Given the description of an element on the screen output the (x, y) to click on. 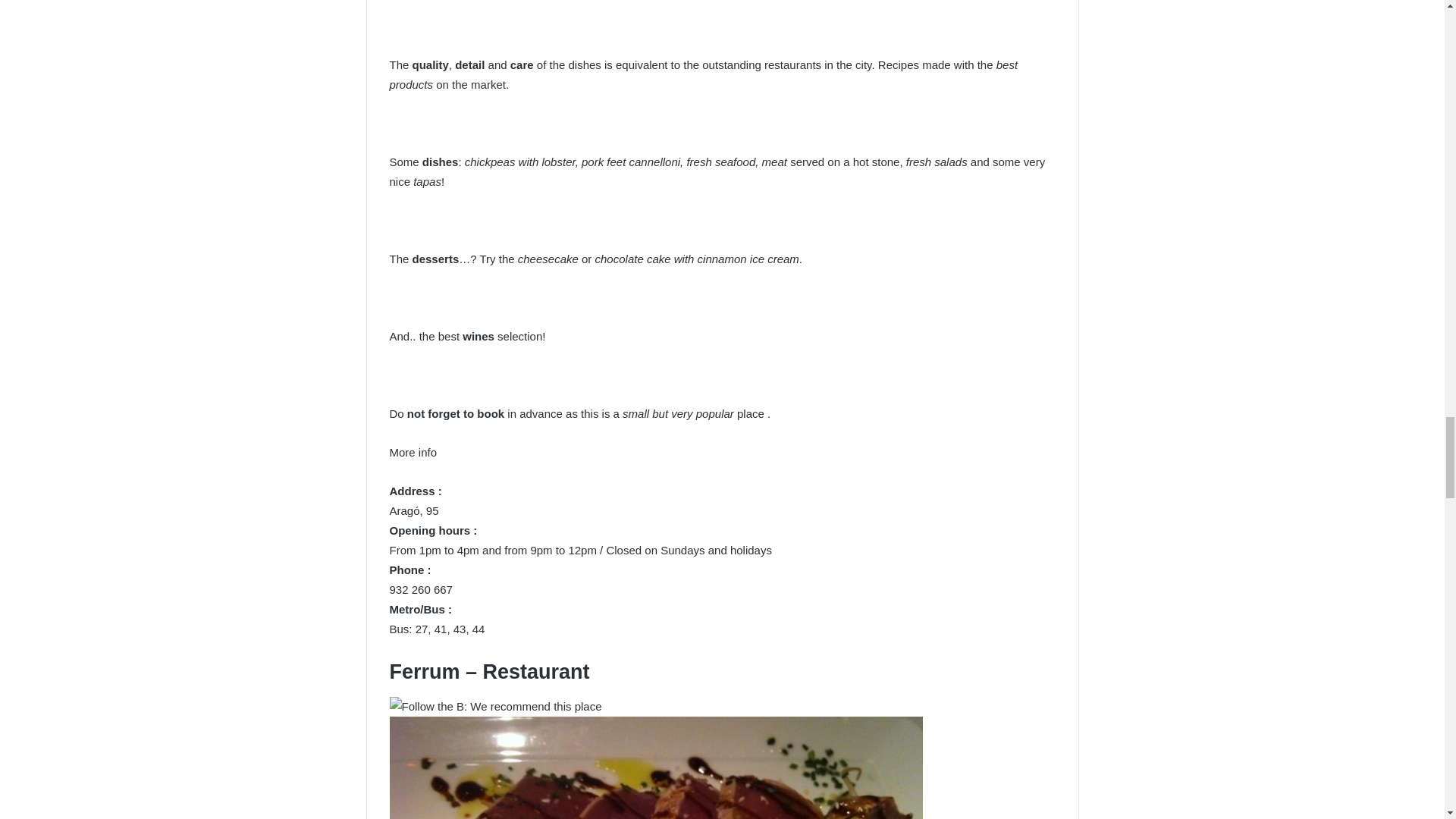
Top Traditional Catalan Restaurants in Barcelona 5 (656, 767)
Follow the B: We recommend this place (496, 706)
